Given the description of an element on the screen output the (x, y) to click on. 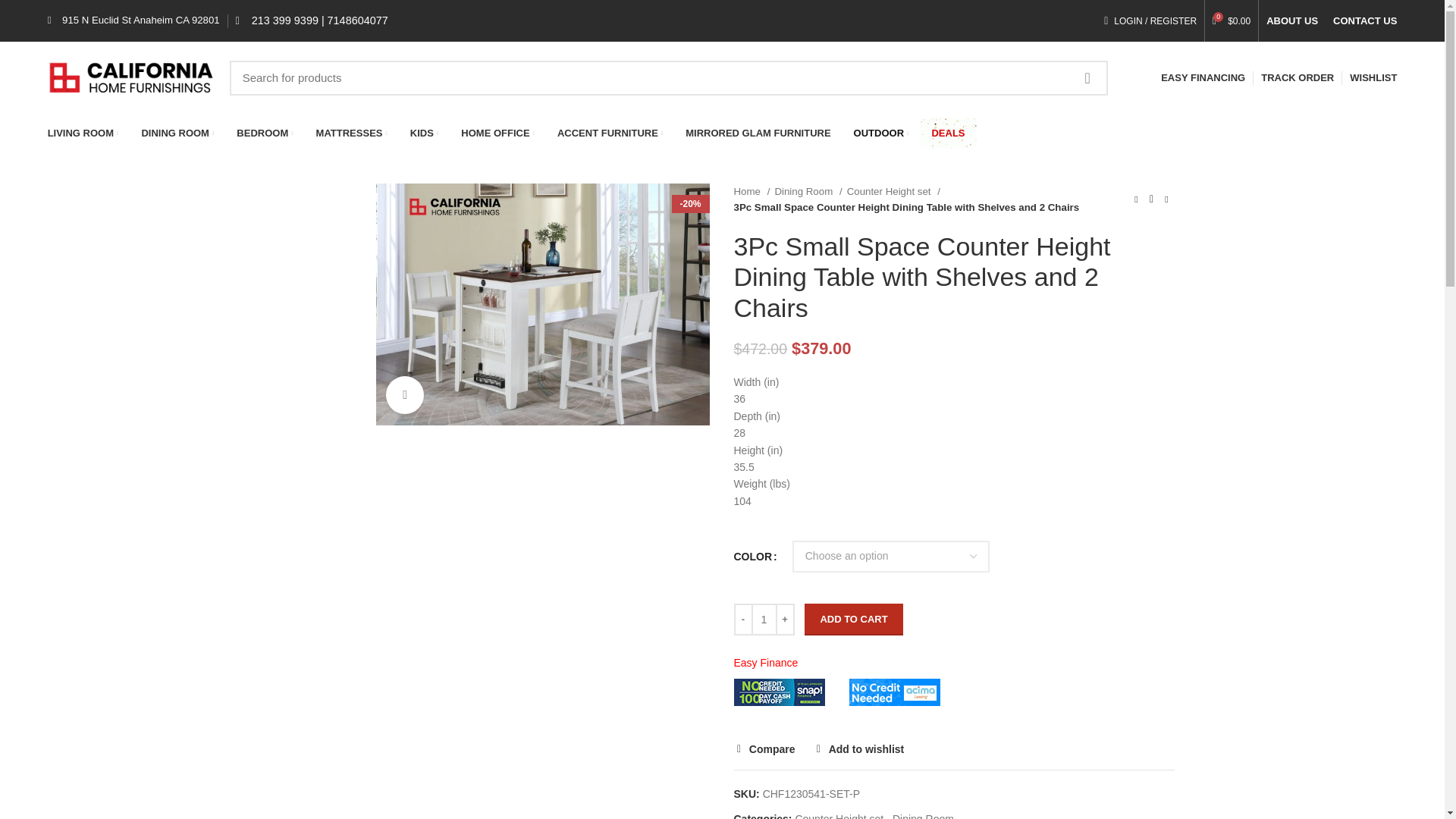
BEDROOM (264, 132)
SEARCH (1087, 77)
EASY FINANCING (1202, 77)
MATTRESSES (351, 132)
CHF1230541-SET-P (542, 304)
WISHLIST (1373, 77)
TRACK ORDER (1296, 77)
LIVING ROOM (83, 132)
My account (1150, 20)
ABOUT US (1291, 20)
DINING ROOM (177, 132)
Shopping cart (1231, 20)
Search for products (669, 77)
CONTACT US (1364, 20)
